Given the description of an element on the screen output the (x, y) to click on. 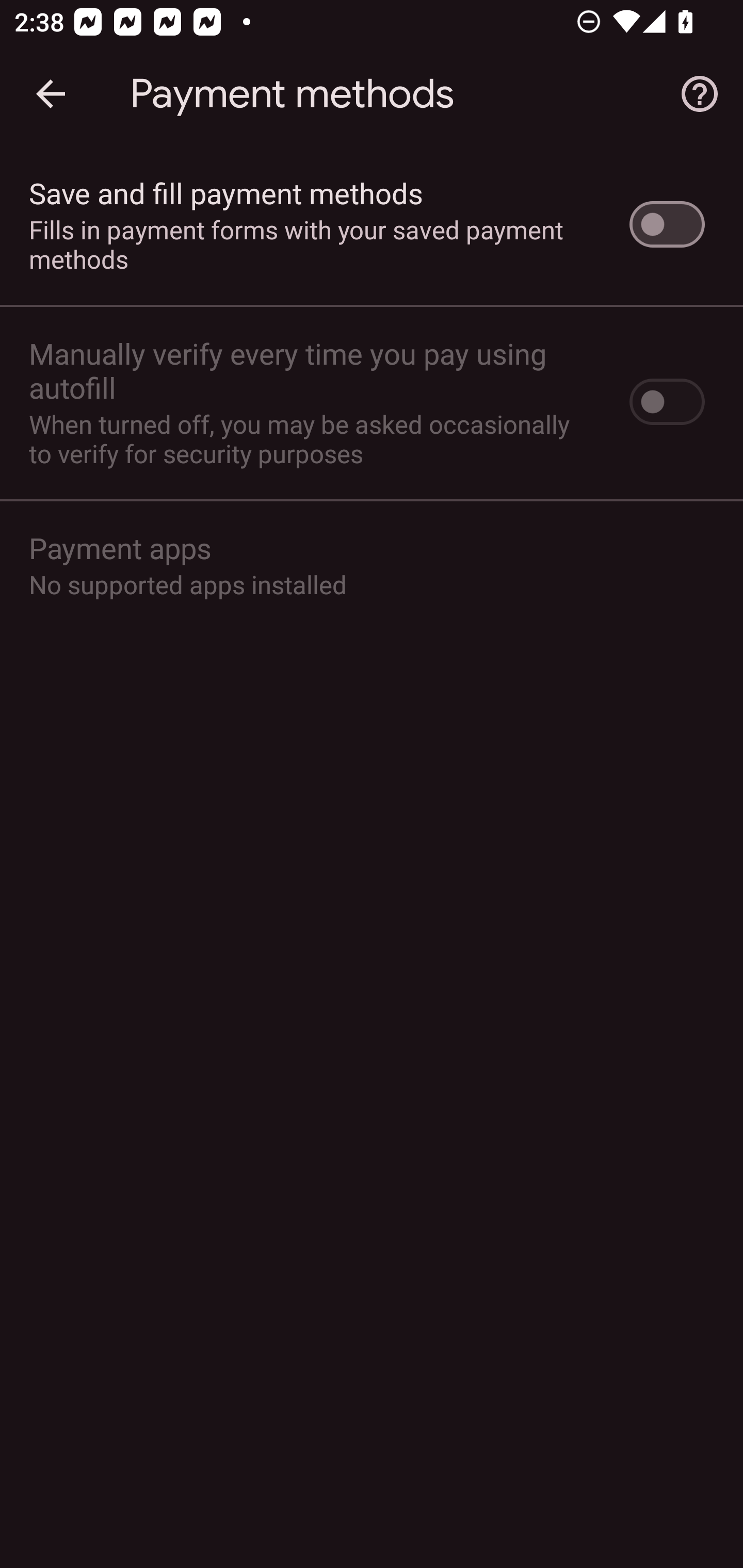
Navigate up (50, 93)
Help & feedback (699, 93)
Payment apps No supported apps installed (371, 564)
